Given the description of an element on the screen output the (x, y) to click on. 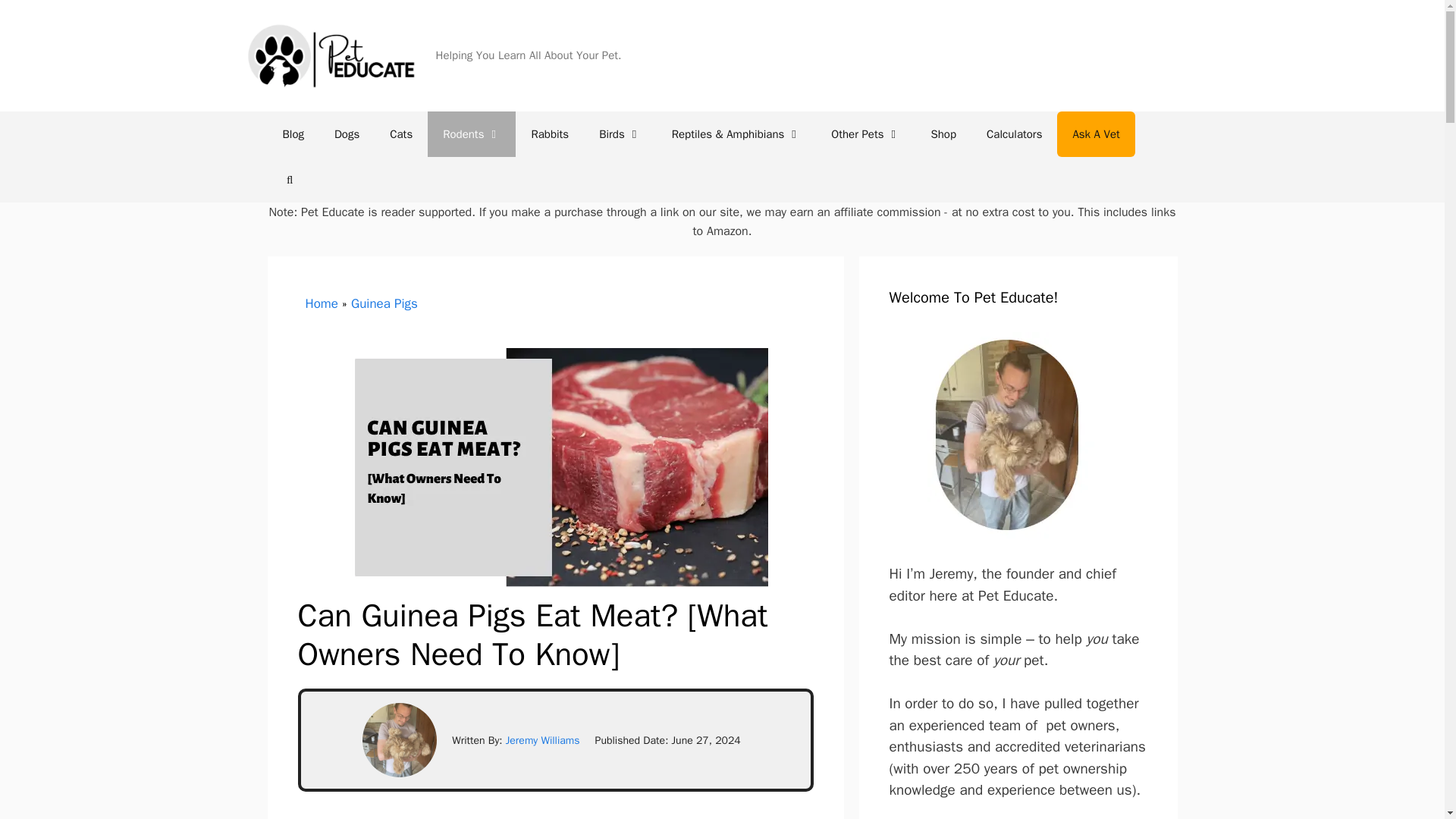
Cats (401, 134)
Rabbits (549, 134)
Shop (943, 134)
Blog (292, 134)
Rodents (471, 134)
Dogs (346, 134)
Birds (619, 134)
Other Pets (865, 134)
Calculators (1014, 134)
Ask A Vet (1095, 134)
